Given the description of an element on the screen output the (x, y) to click on. 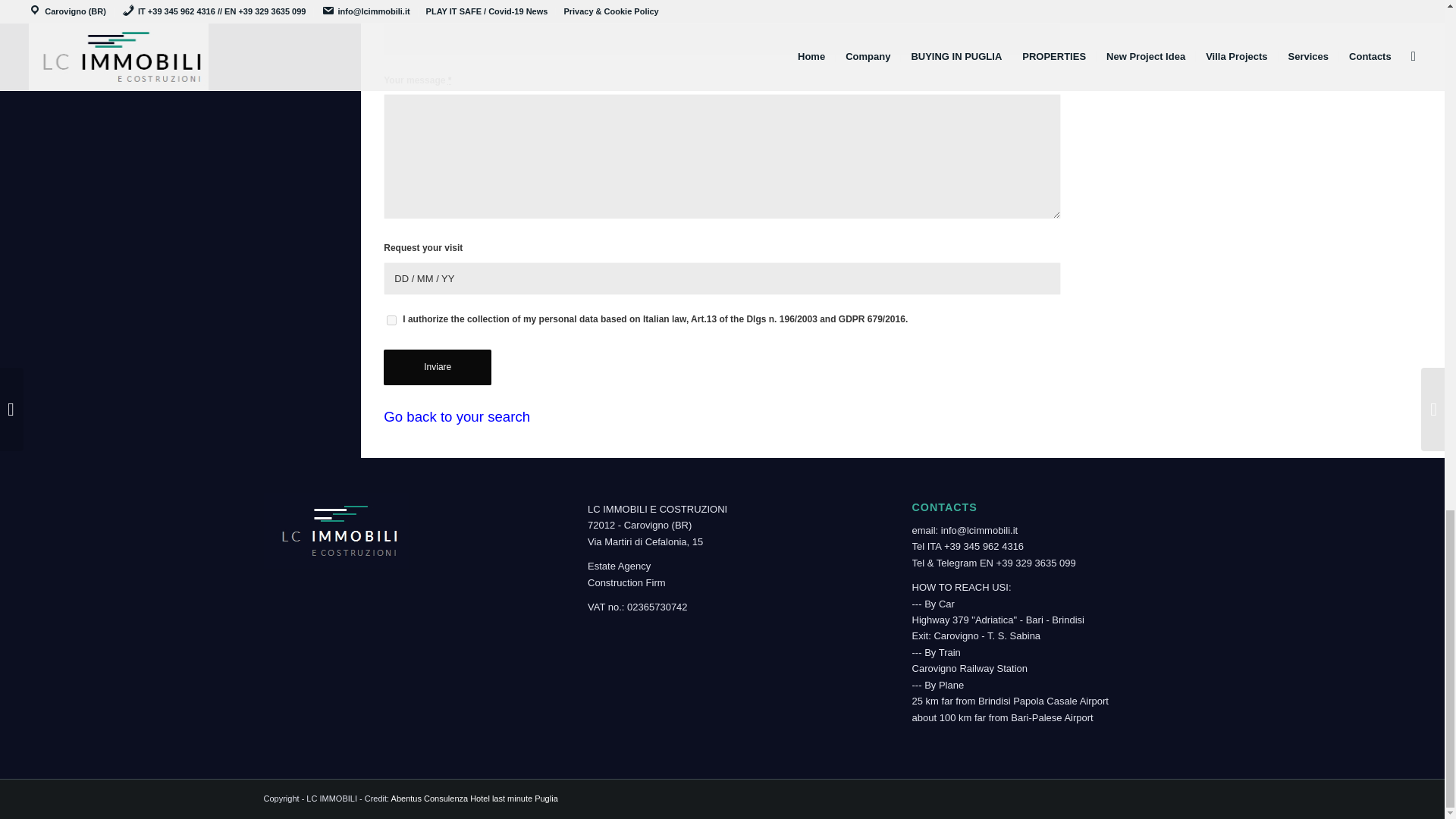
true (391, 320)
Inviare (438, 366)
